Given the description of an element on the screen output the (x, y) to click on. 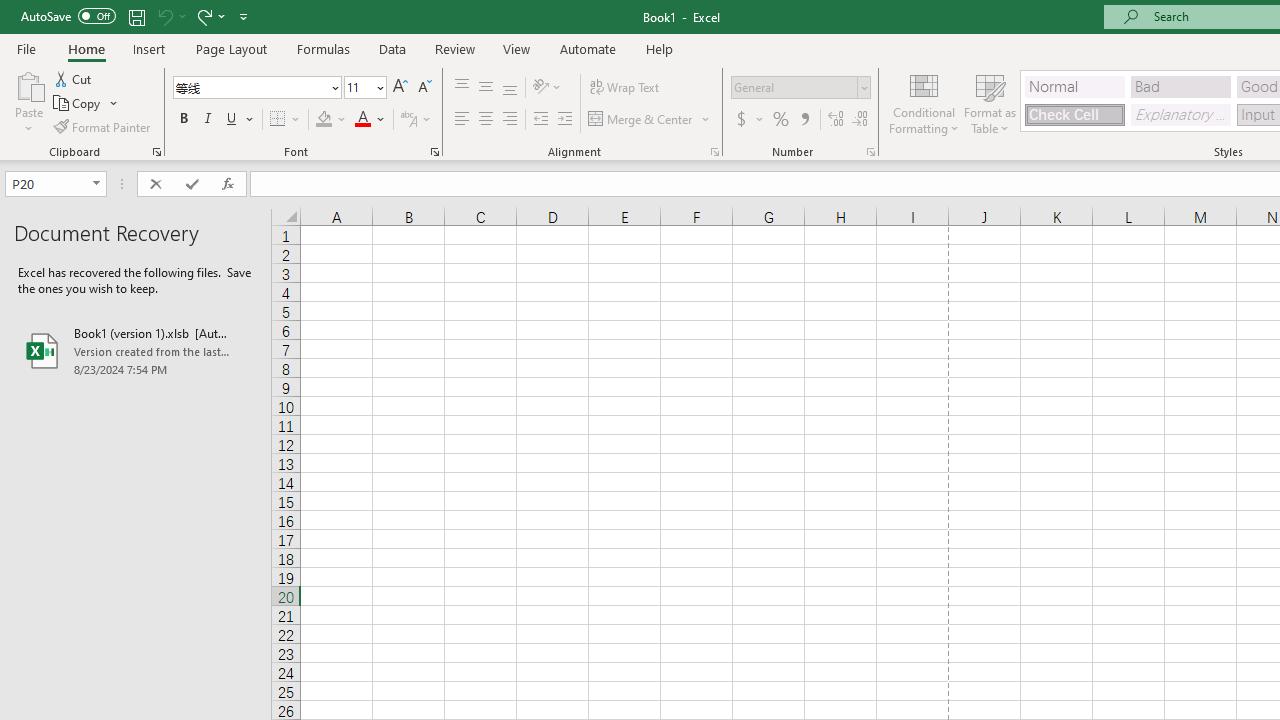
Merge & Center (649, 119)
Copy (85, 103)
Format Cell Number (870, 151)
Accounting Number Format (749, 119)
Bad (1180, 86)
Increase Font Size (399, 87)
Show Phonetic Field (408, 119)
Font (256, 87)
